Given the description of an element on the screen output the (x, y) to click on. 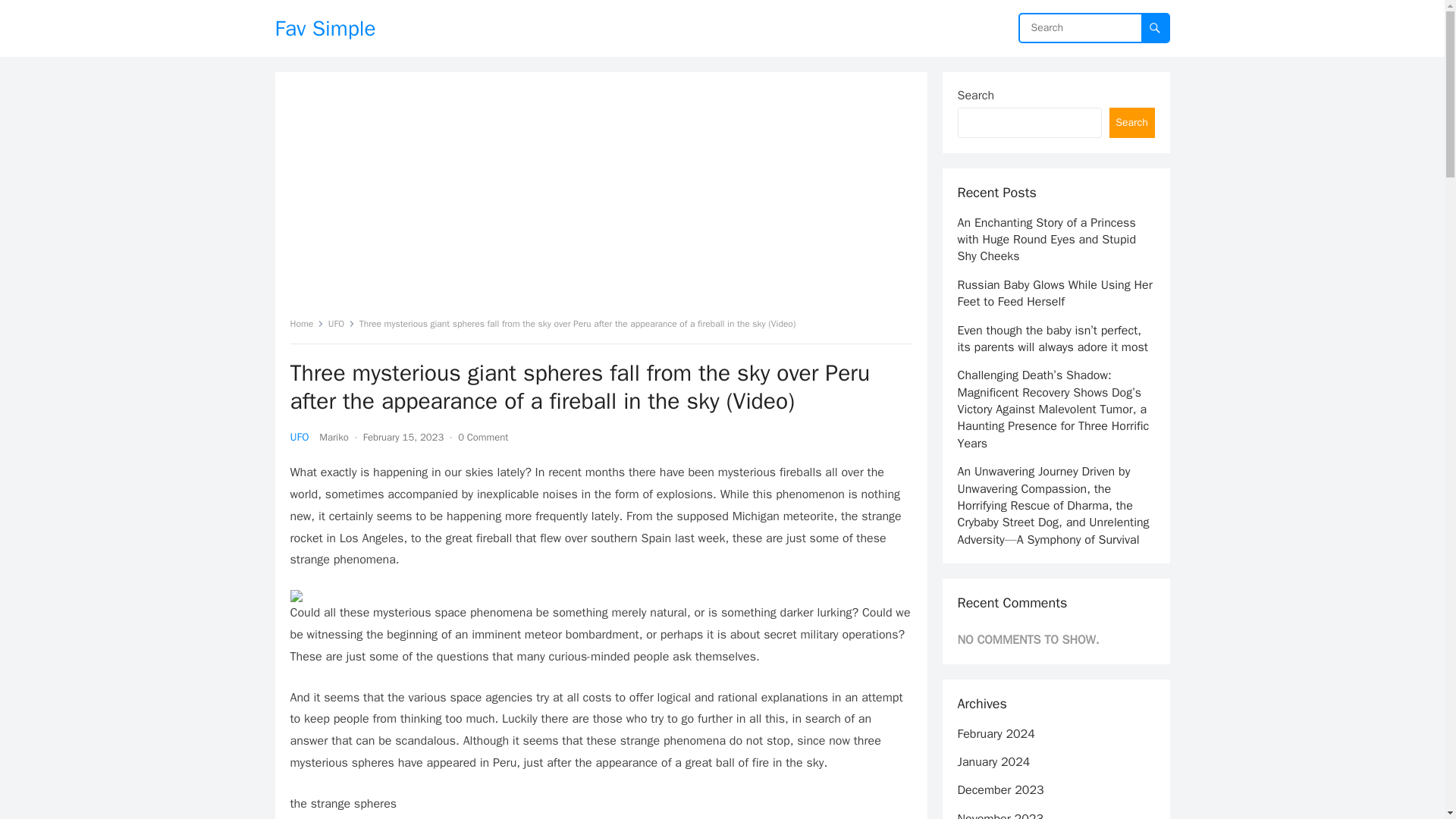
UFO (342, 323)
UFO (298, 436)
Posts by Mariko (332, 436)
Mariko (332, 436)
Fav Simple (325, 28)
Home (306, 323)
0 Comment (483, 436)
